Given the description of an element on the screen output the (x, y) to click on. 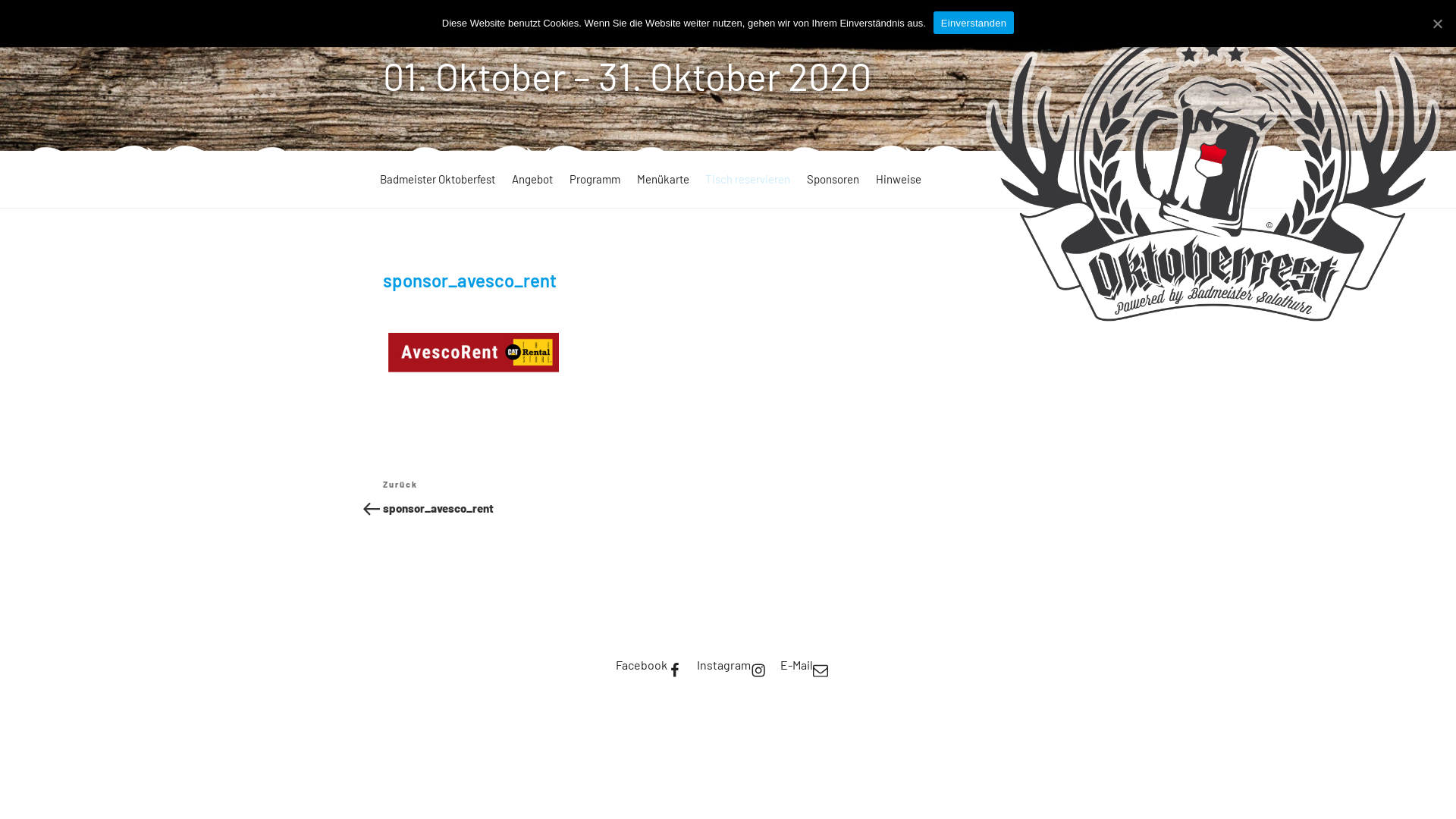
Badmeister Oktoberfest Element type: text (436, 179)
Sponsoren Element type: text (831, 179)
Instagram Element type: text (730, 664)
Hinweise Element type: text (897, 179)
Facebook Element type: text (648, 664)
Einverstanden Element type: text (973, 22)
Zum Inhalt springen Element type: text (0, 0)
Angebot Element type: text (530, 179)
Tisch reservieren Element type: text (746, 179)
E-Mail Element type: text (804, 664)
Programm Element type: text (593, 179)
